Given the description of an element on the screen output the (x, y) to click on. 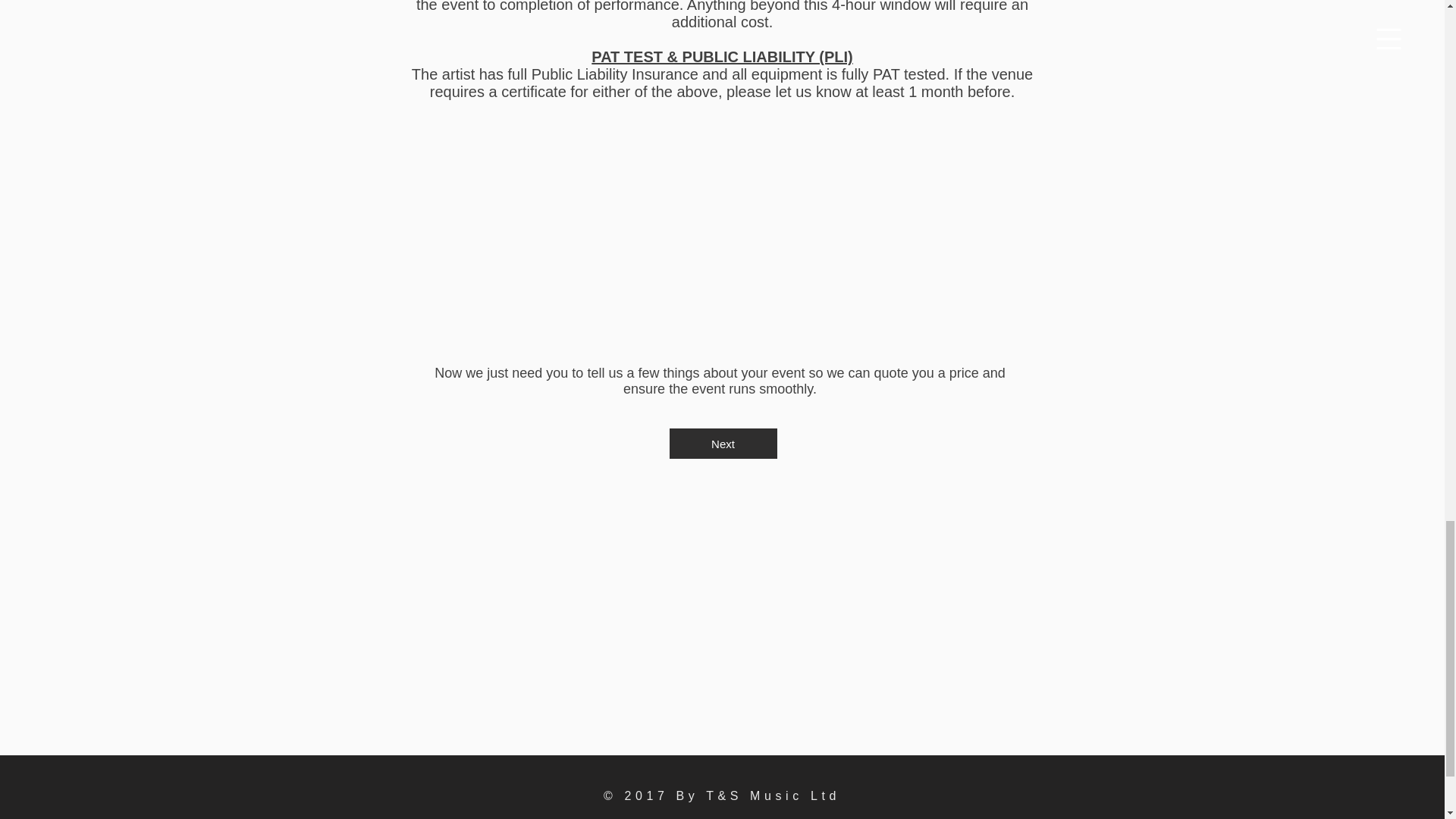
Next (722, 443)
